Given the description of an element on the screen output the (x, y) to click on. 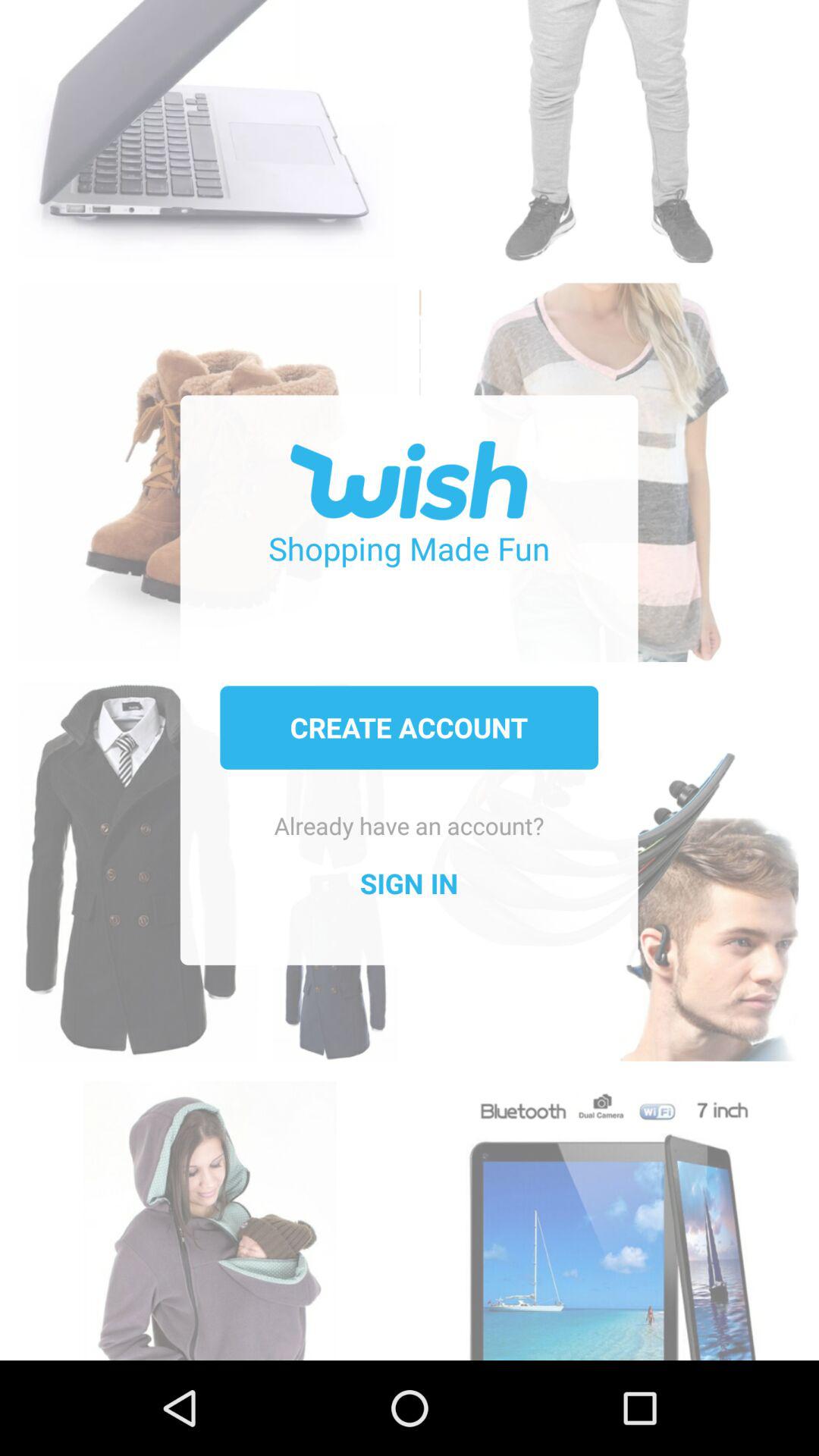
scan (608, 1212)
